Given the description of an element on the screen output the (x, y) to click on. 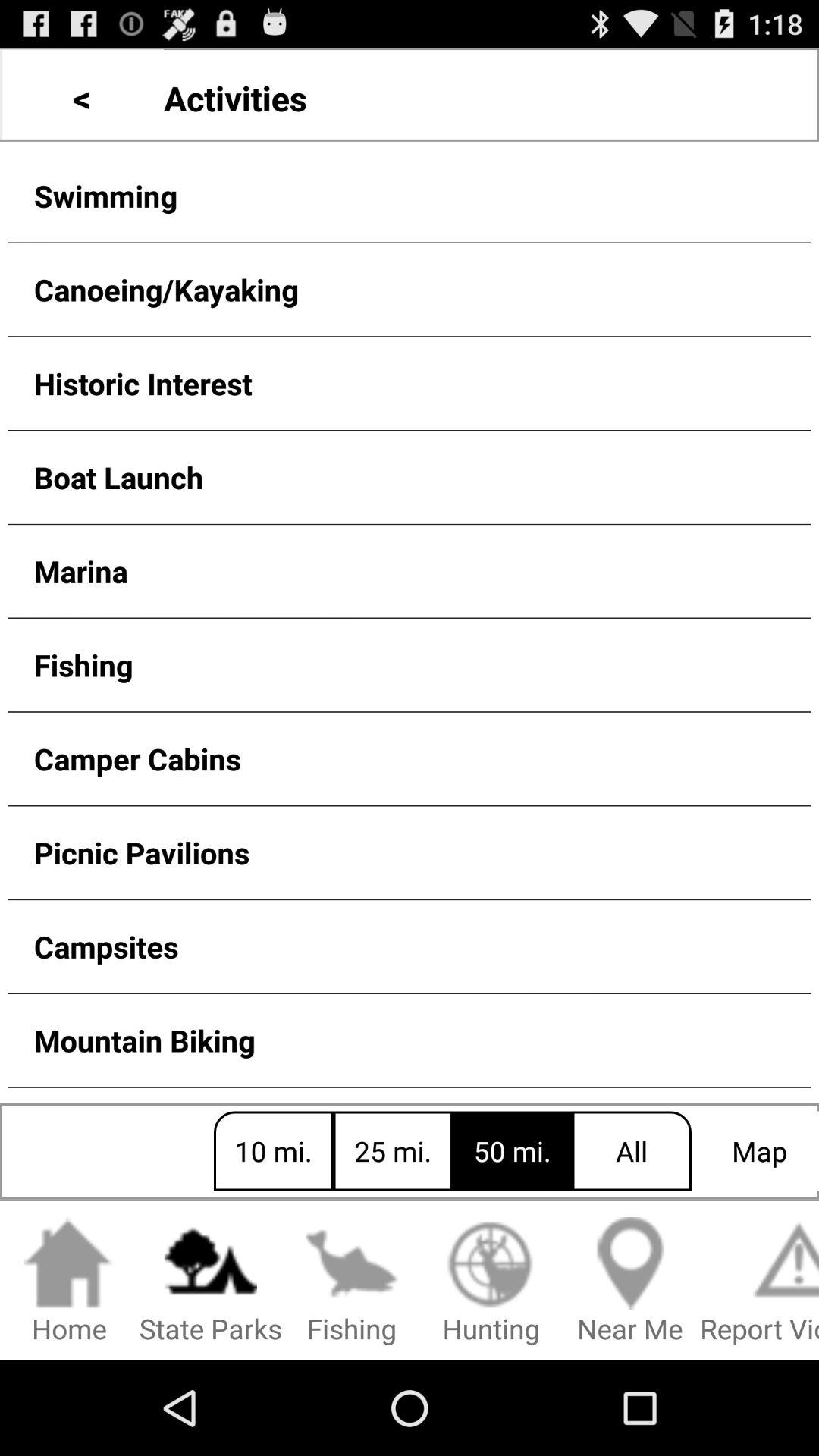
press icon to the right of near me item (759, 1282)
